Given the description of an element on the screen output the (x, y) to click on. 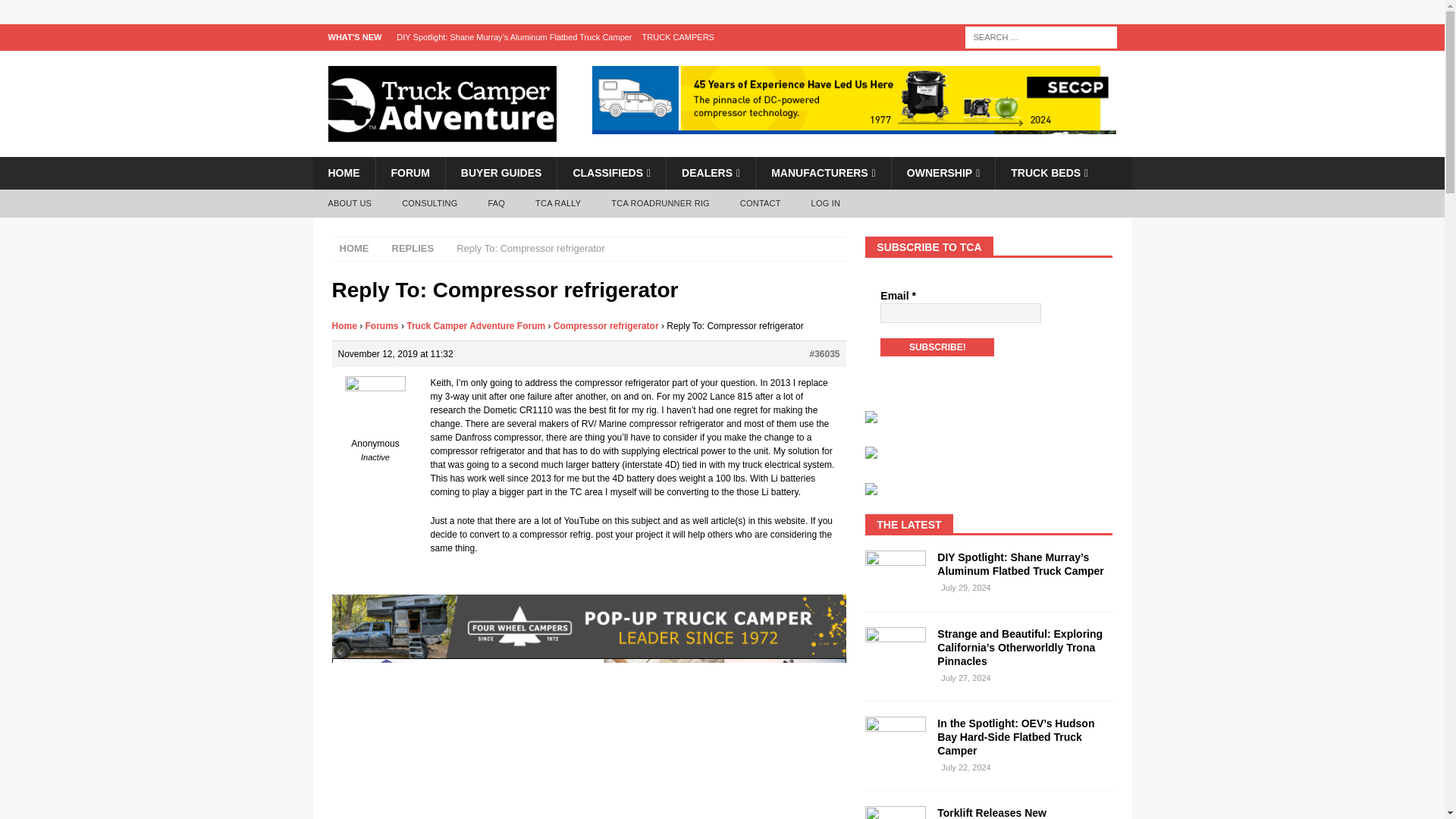
FORUM (409, 173)
HOME (343, 173)
Email (960, 312)
Subscribe! (937, 347)
CLASSIFIEDS (610, 173)
Search (56, 11)
BUYER GUIDES (501, 173)
DEALERS (710, 173)
